Given the description of an element on the screen output the (x, y) to click on. 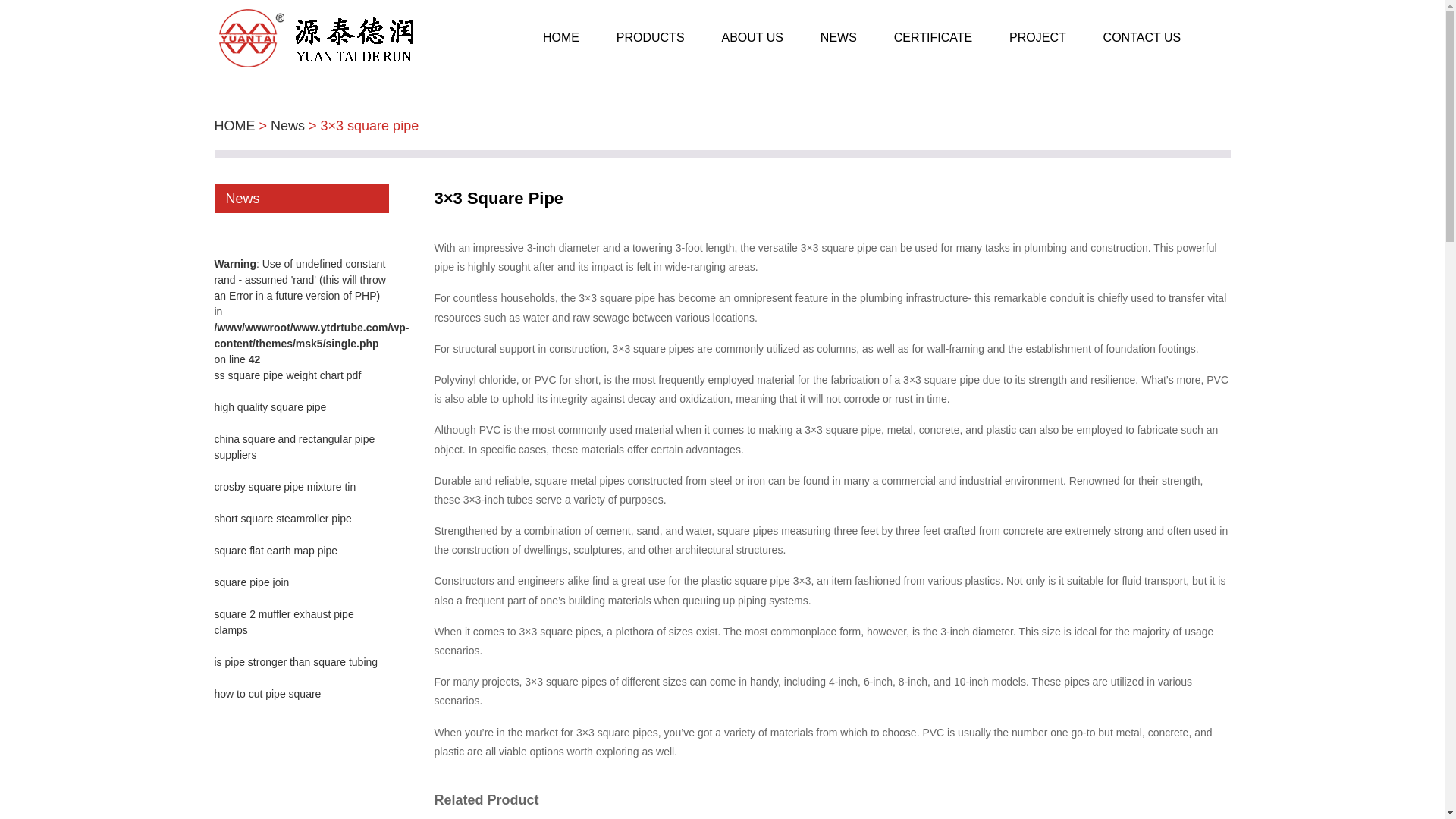
PRODUCTS (649, 37)
crosby square pipe mixture tin (284, 486)
high quality square pipe (270, 407)
square 2 muffler exhaust pipe clamps (283, 622)
china square and rectangular pipe suppliers (294, 447)
short square steamroller pipe (282, 518)
square pipe join (251, 582)
square pipe join (251, 582)
how to cut pipe square (267, 693)
ss square pipe weight chart pdf (287, 375)
